Given the description of an element on the screen output the (x, y) to click on. 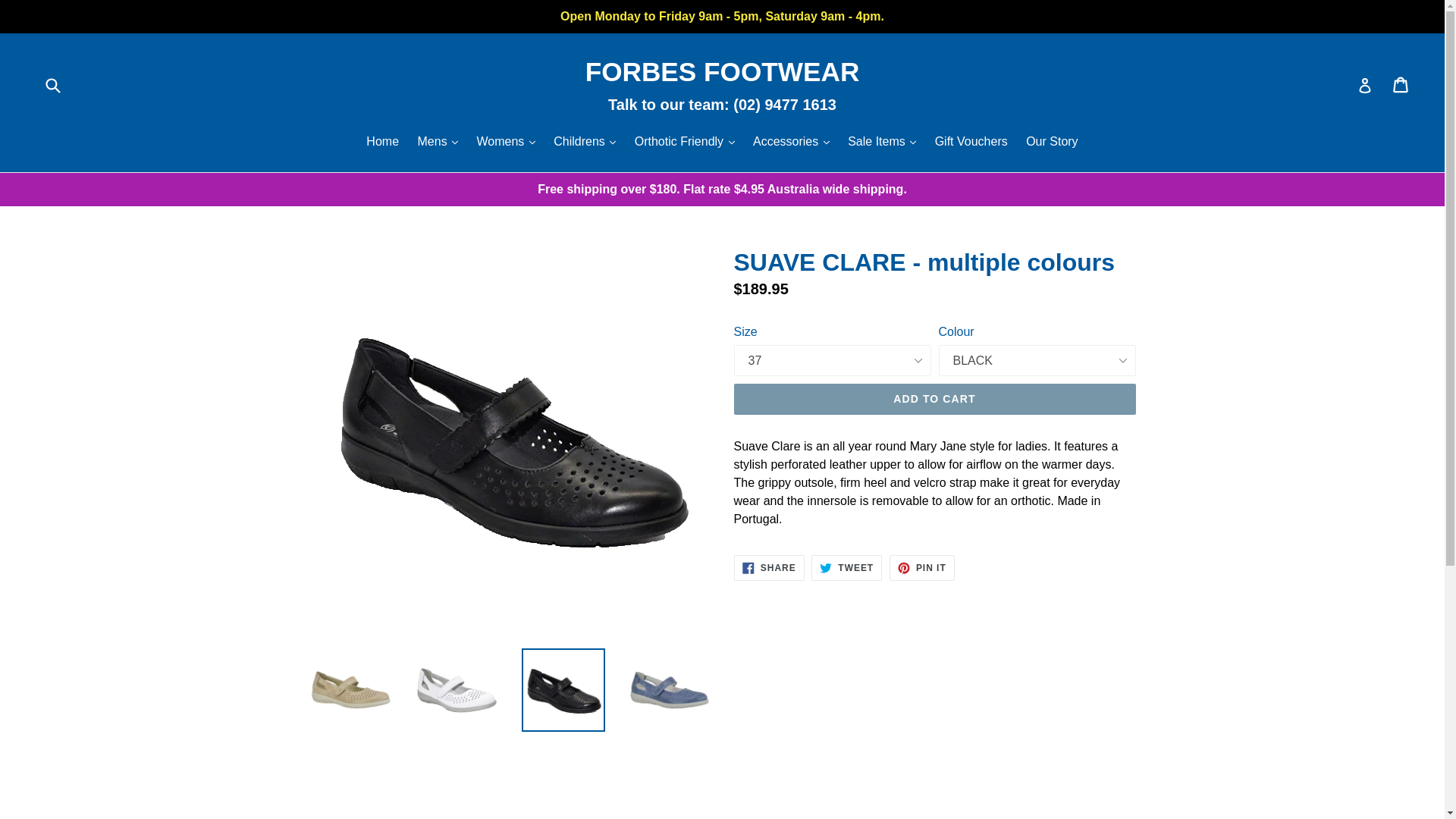
Share on Facebook (769, 567)
Tweet on Twitter (846, 567)
Pin on Pinterest (922, 567)
